Given the description of an element on the screen output the (x, y) to click on. 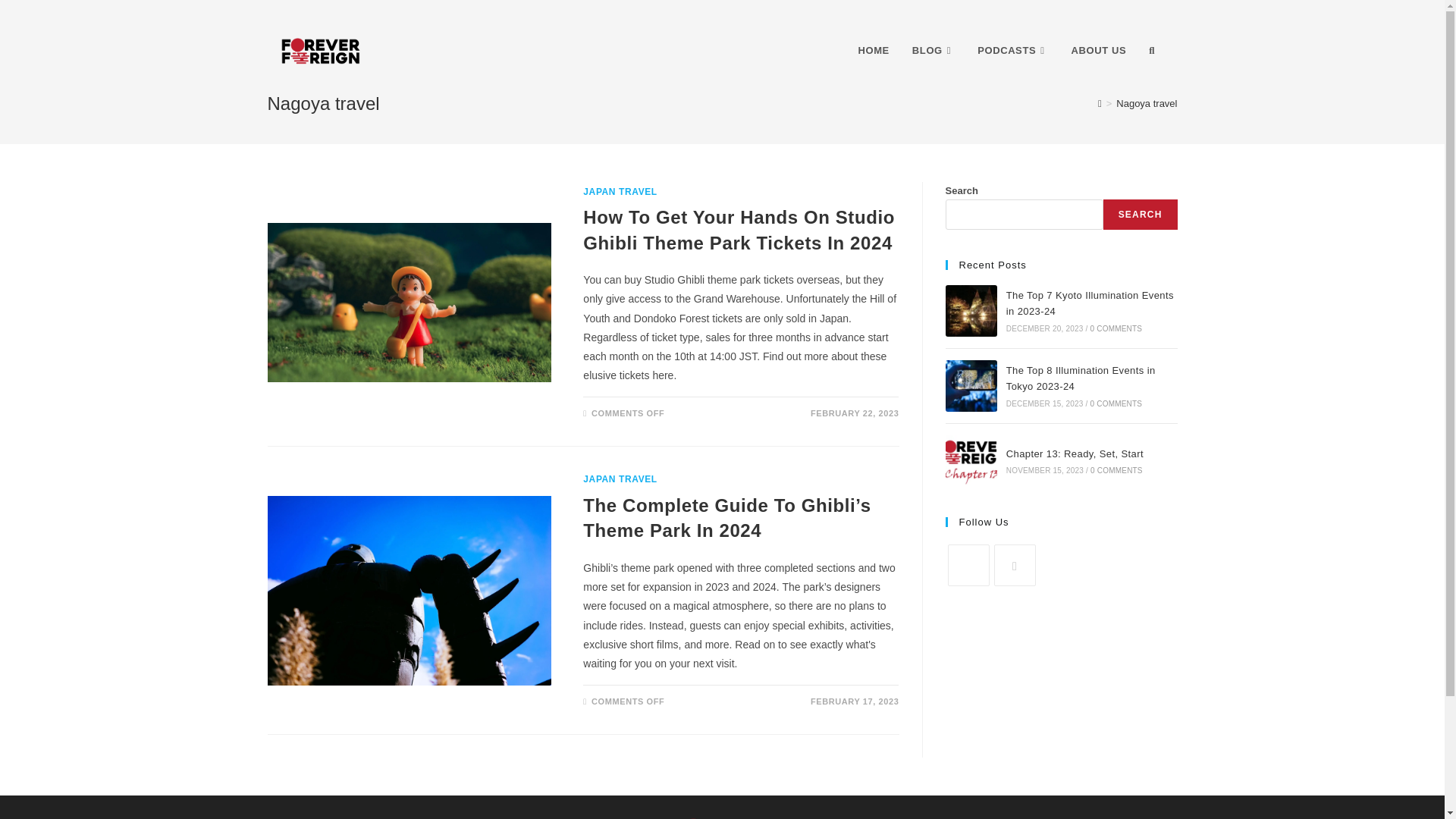
BLOG (933, 50)
Nagoya travel (1146, 102)
HOME (872, 50)
The Top 8 Illumination Events in Tokyo 2023-24 (969, 385)
The Top 7 Kyoto Illumination Events in 2023-24 (1089, 302)
The Top 8 Illumination Events in Tokyo 2023-24 (1081, 378)
SEARCH (1140, 214)
0 COMMENTS (1116, 328)
0 COMMENTS (1116, 403)
